Given the description of an element on the screen output the (x, y) to click on. 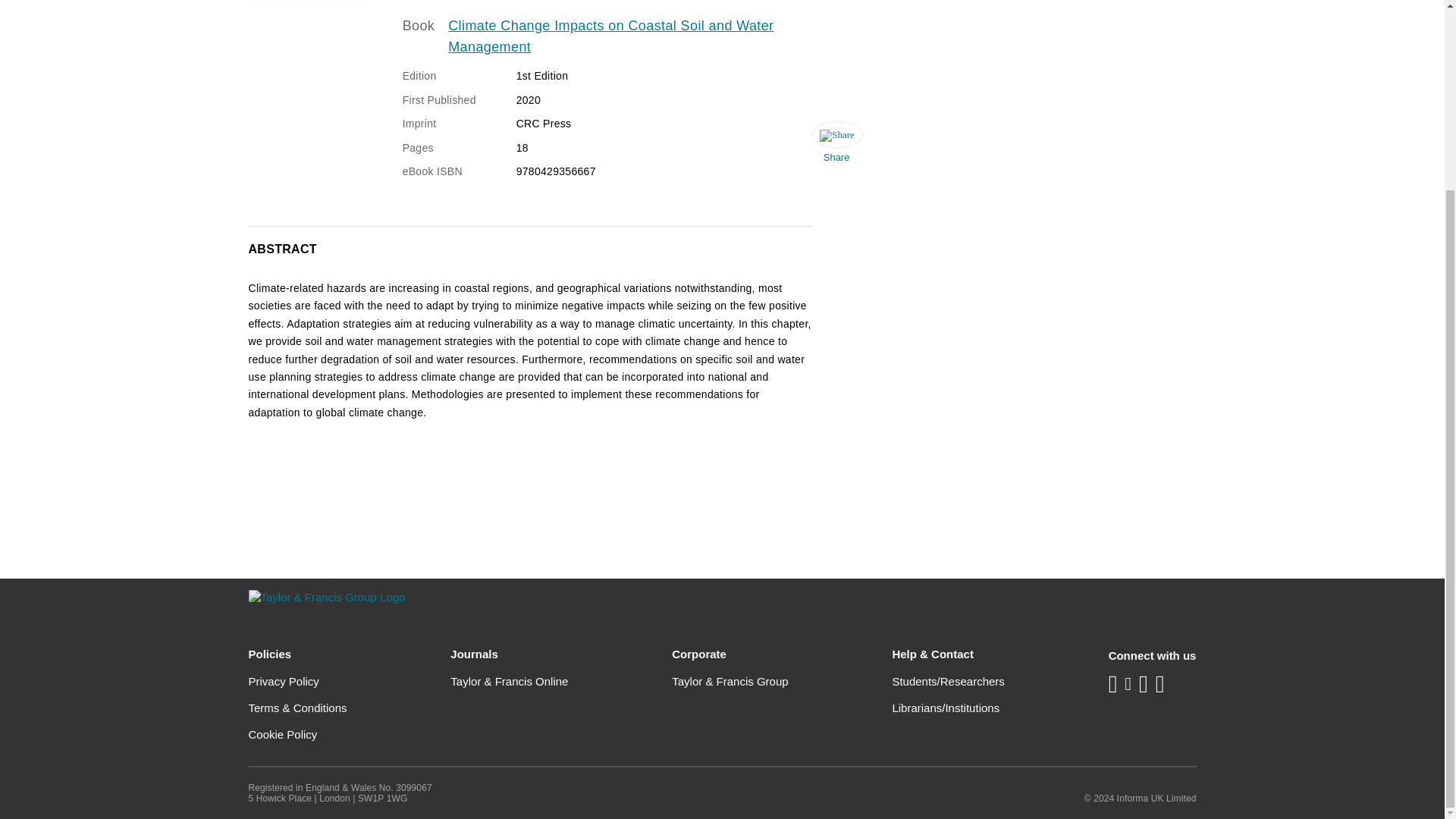
Cookie Policy (282, 734)
Share (836, 145)
Privacy Policy (283, 681)
Climate Change Impacts on Coastal Soil and Water Management (628, 36)
